Given the description of an element on the screen output the (x, y) to click on. 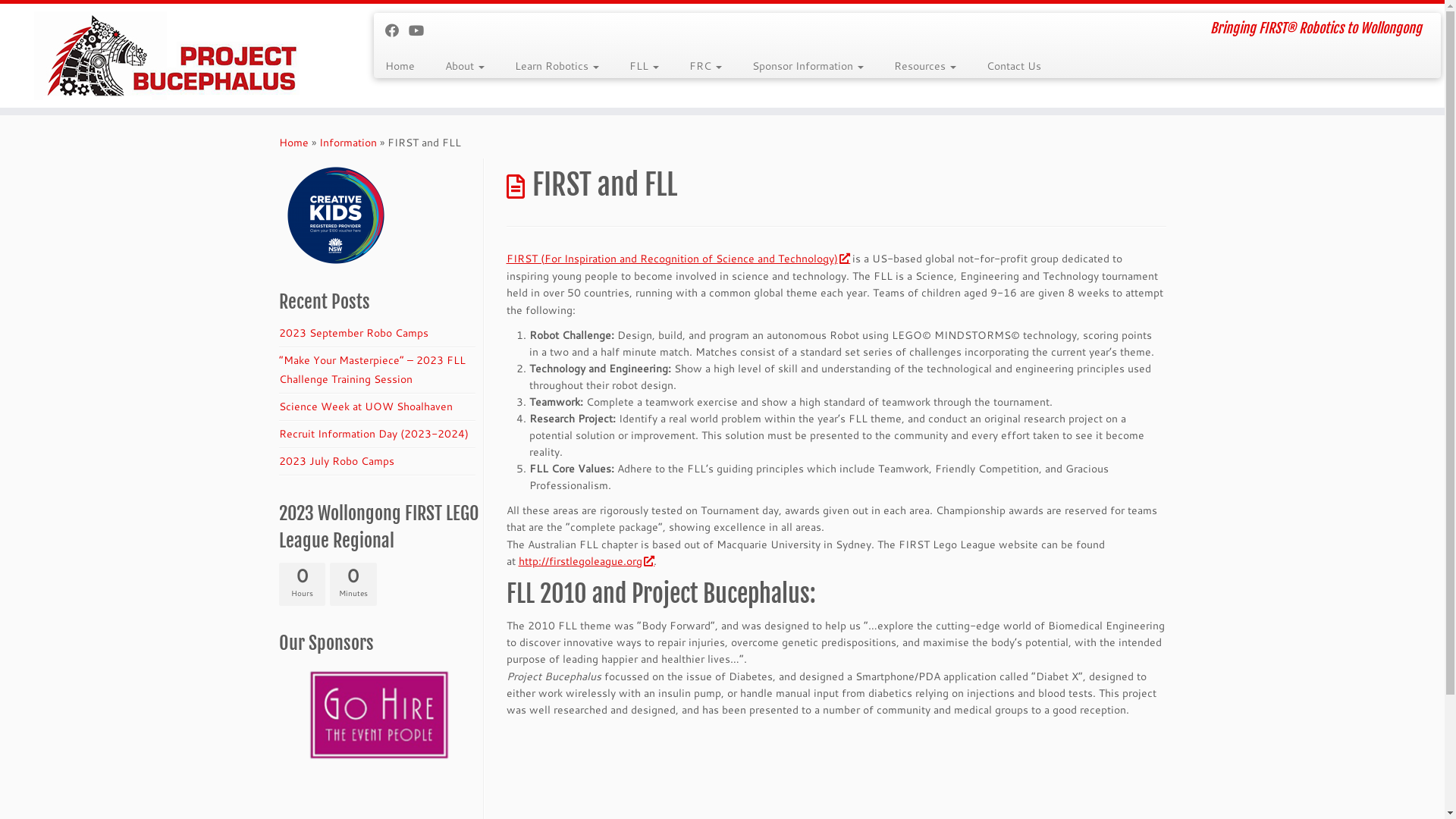
Information Element type: text (347, 142)
Follow me on Youtube Element type: hover (420, 30)
Home Element type: text (405, 65)
Science Week at UOW Shoalhaven Element type: text (365, 406)
GoHire-EventPeople Element type: hover (379, 715)
Sponsor Information Element type: text (807, 65)
Resources Element type: text (924, 65)
2023 July Robo Camps Element type: text (336, 460)
Recruit Information Day (2023-2024) Element type: text (373, 433)
FRC Element type: text (705, 65)
FLL Element type: text (644, 65)
2023 September Robo Camps Element type: text (353, 332)
Contact Us Element type: text (1006, 65)
Home Element type: text (293, 142)
Follow me on Facebook Element type: hover (396, 30)
About Element type: text (464, 65)
Learn Robotics Element type: text (556, 65)
http://firstlegoleague.org Element type: text (585, 560)
